Given the description of an element on the screen output the (x, y) to click on. 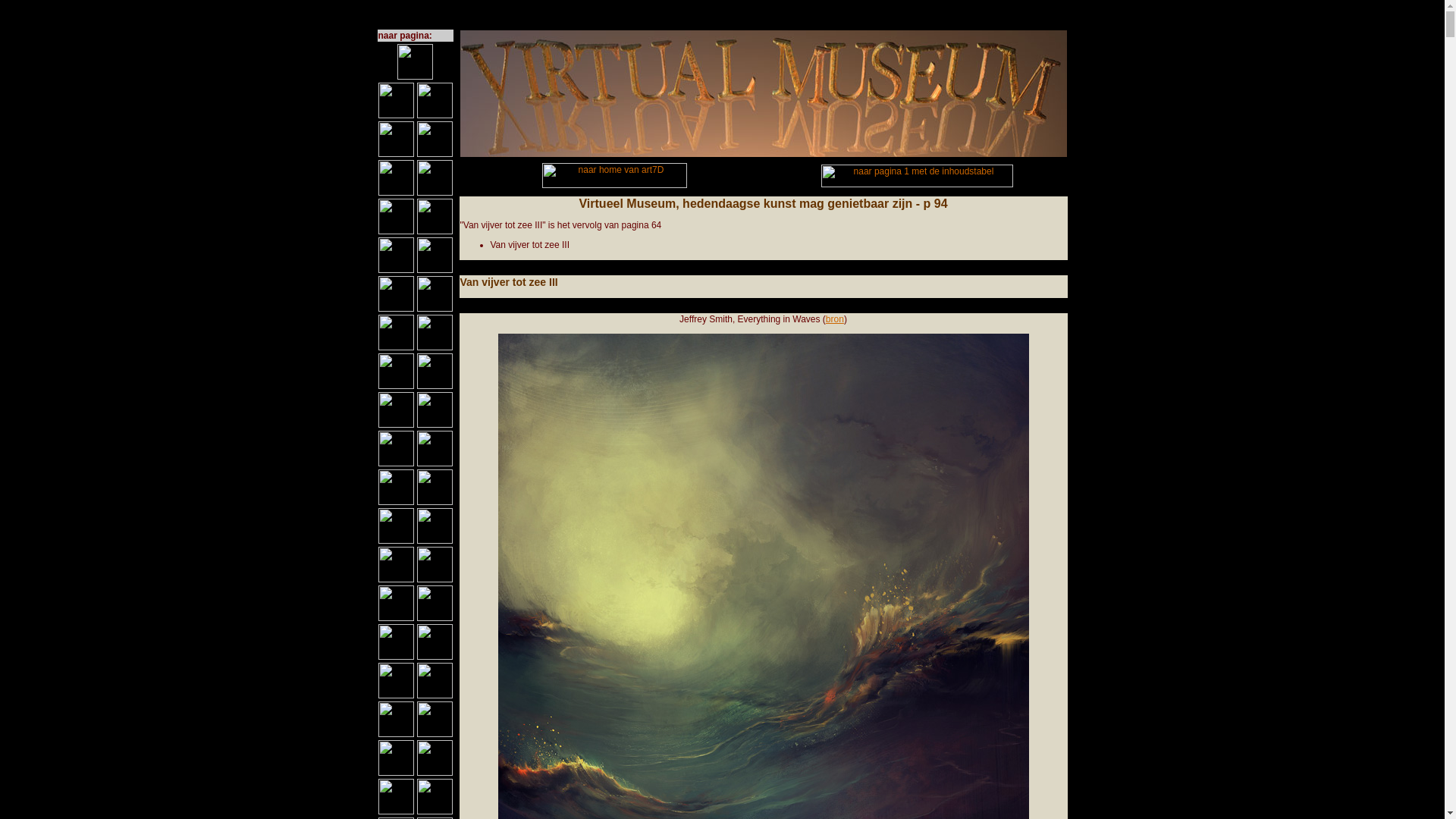
bron Element type: text (834, 318)
